Given the description of an element on the screen output the (x, y) to click on. 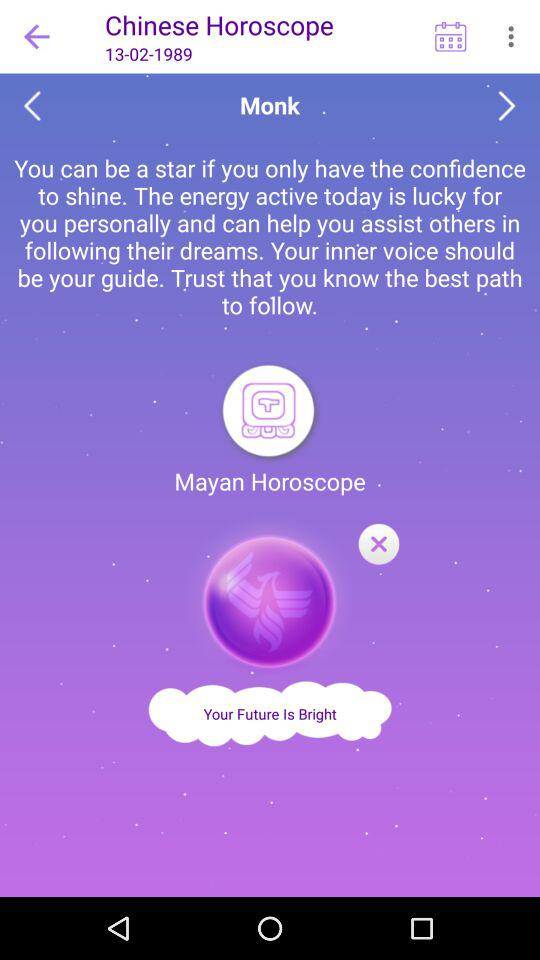
advatisment (269, 595)
